Given the description of an element on the screen output the (x, y) to click on. 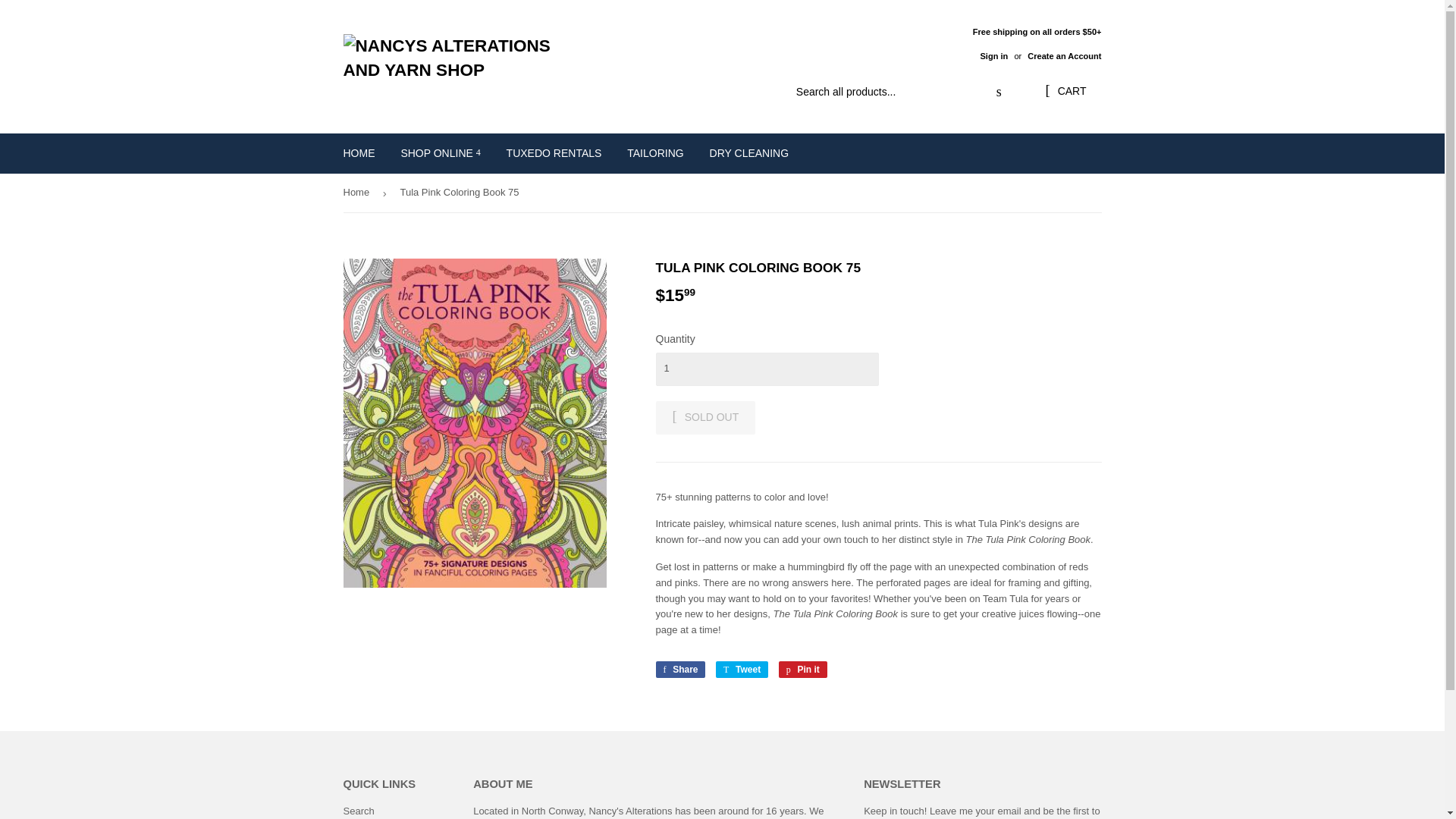
Create an Account (1063, 55)
SHOP ONLINE (440, 152)
Search (998, 92)
Pin on Pinterest (802, 669)
Tweet on Twitter (742, 669)
CART (1064, 91)
Sign in (993, 55)
Share on Facebook (679, 669)
HOME (359, 152)
1 (766, 368)
